Given the description of an element on the screen output the (x, y) to click on. 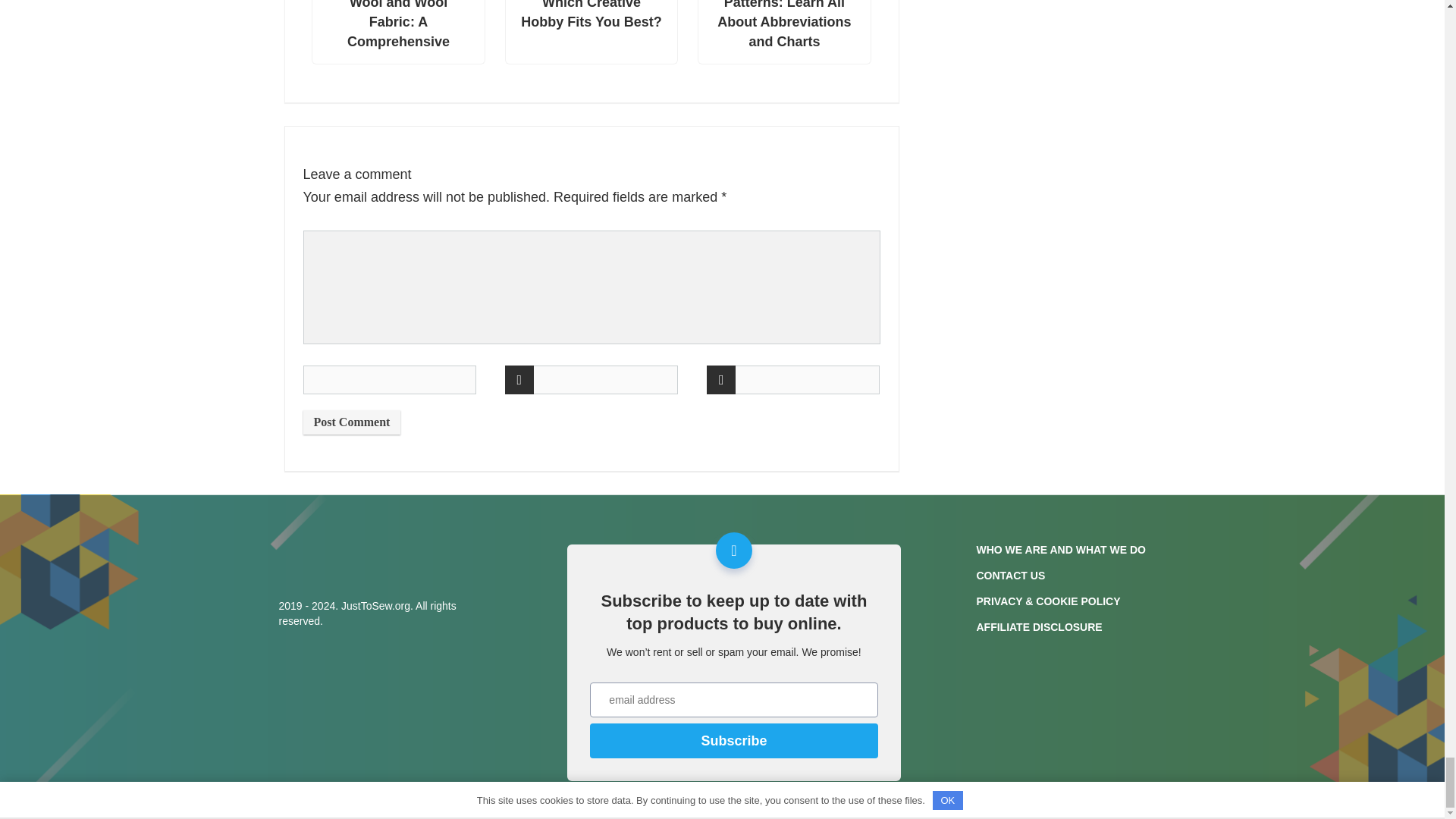
DMCA.com Protection Status (1090, 767)
